Given the description of an element on the screen output the (x, y) to click on. 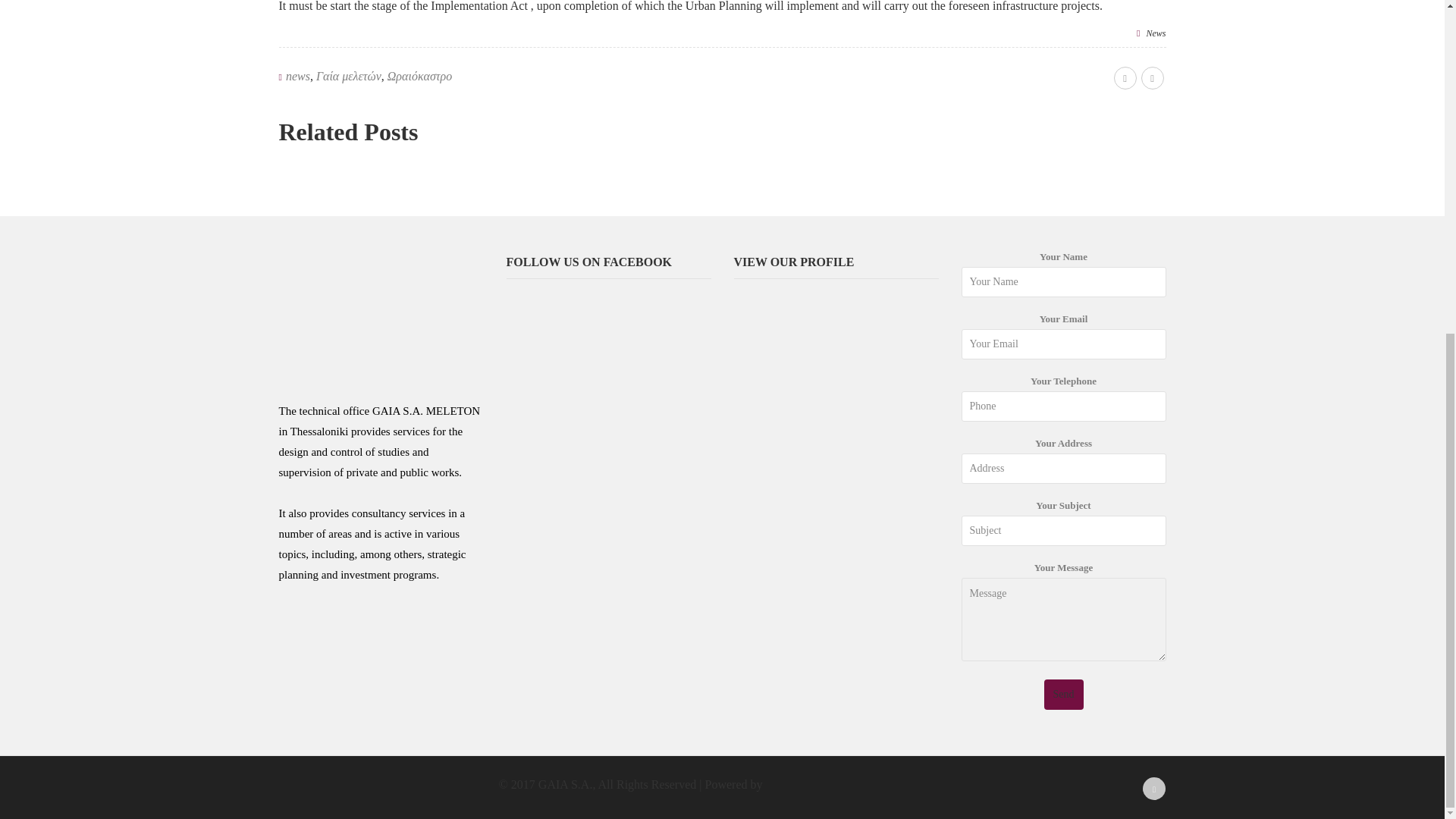
Send (1063, 694)
